Given the description of an element on the screen output the (x, y) to click on. 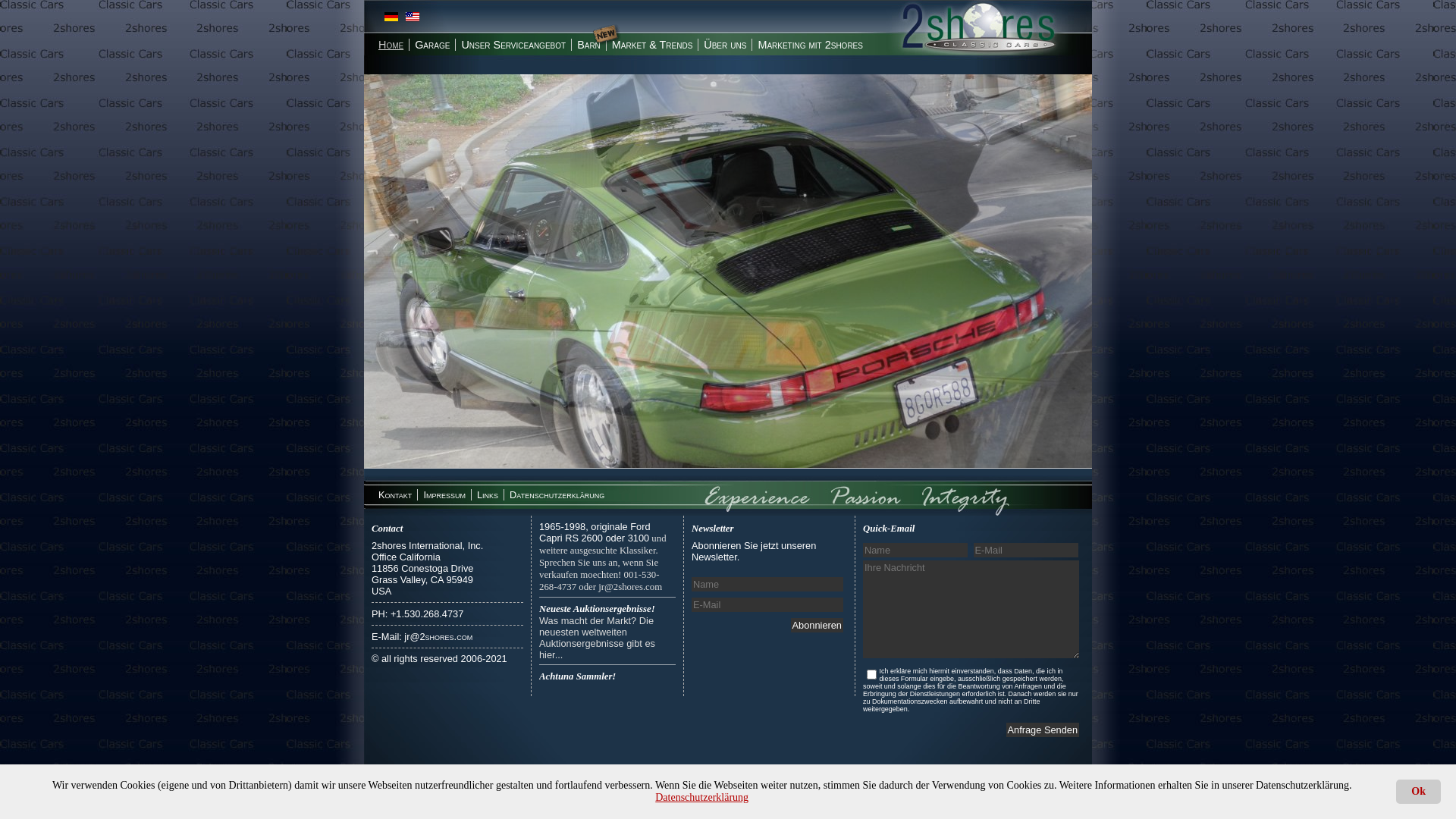
Market & Trends Element type: text (651, 44)
Deutsch Element type: hover (391, 16)
Ok Element type: text (1418, 791)
English Element type: hover (412, 16)
Impressum Element type: text (443, 494)
Kontakt Element type: text (395, 494)
Barn Element type: text (588, 44)
Home Element type: text (390, 44)
@2shores.com Element type: text (440, 636)
Links Element type: text (486, 494)
Garage Element type: text (431, 44)
Abonnieren Element type: text (816, 625)
Unser Serviceangebot Element type: text (513, 44)
Anfrage Senden Element type: text (1042, 729)
Marketing mit 2shores Element type: text (809, 44)
